Given the description of an element on the screen output the (x, y) to click on. 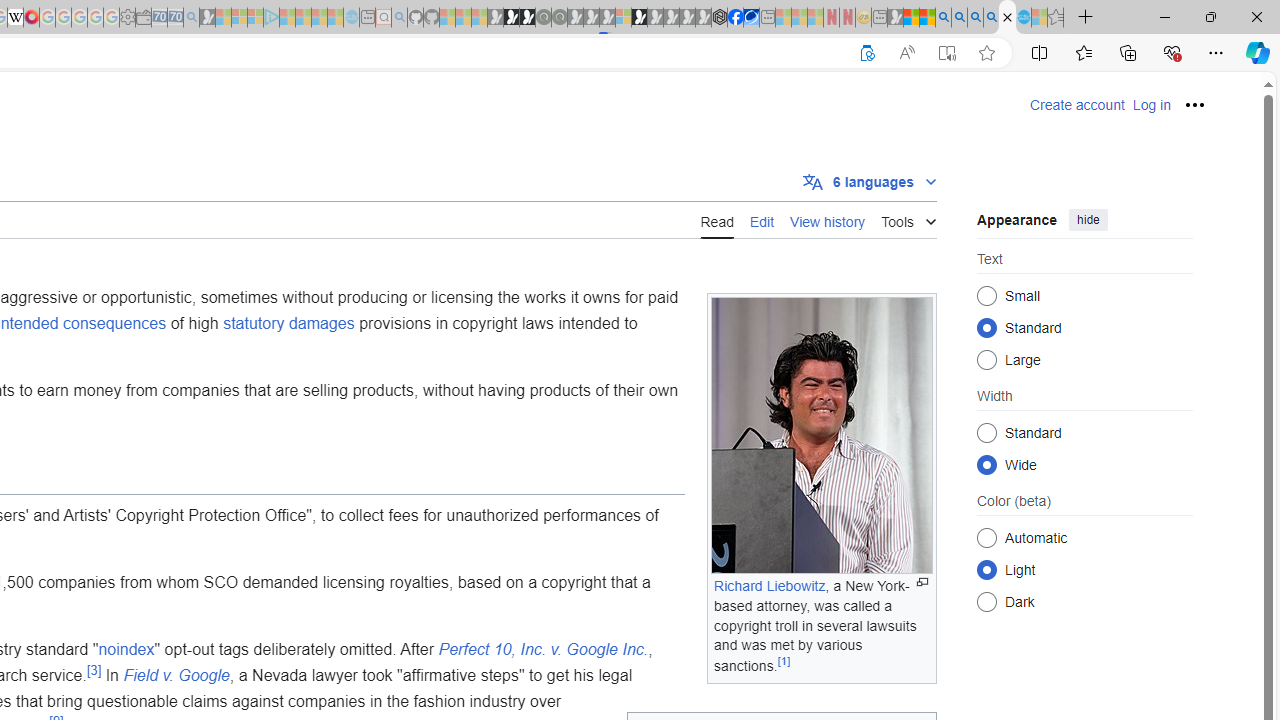
Wide (986, 464)
Nordace | Facebook (735, 17)
2009 Bing officially replaced Live Search on June 3 - Search (959, 17)
Read (716, 219)
[1] (783, 661)
